Given the description of an element on the screen output the (x, y) to click on. 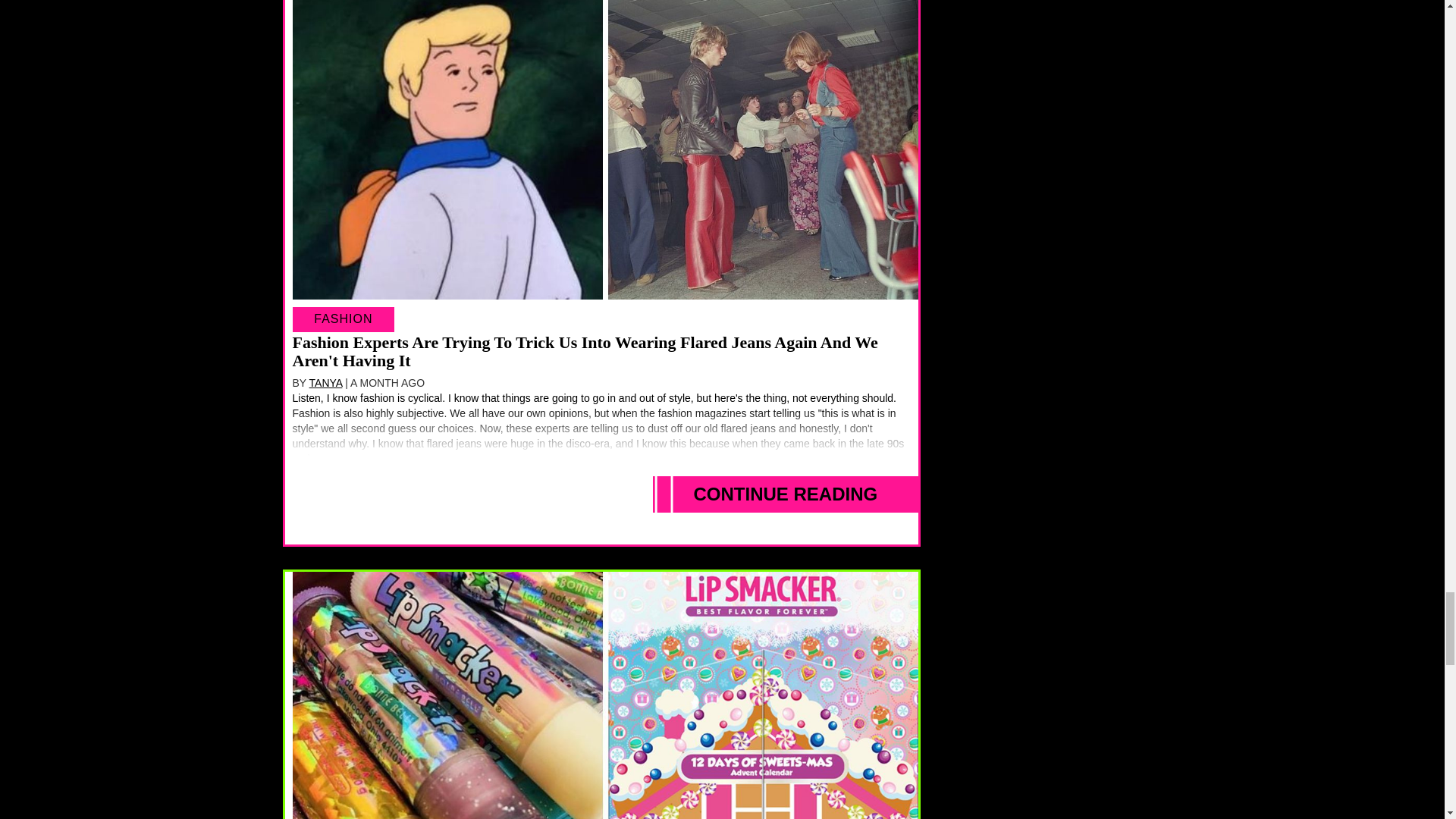
TANYA (325, 382)
FASHION (343, 319)
CONTINUE READING (785, 493)
Tanya's Profile (325, 382)
